Given the description of an element on the screen output the (x, y) to click on. 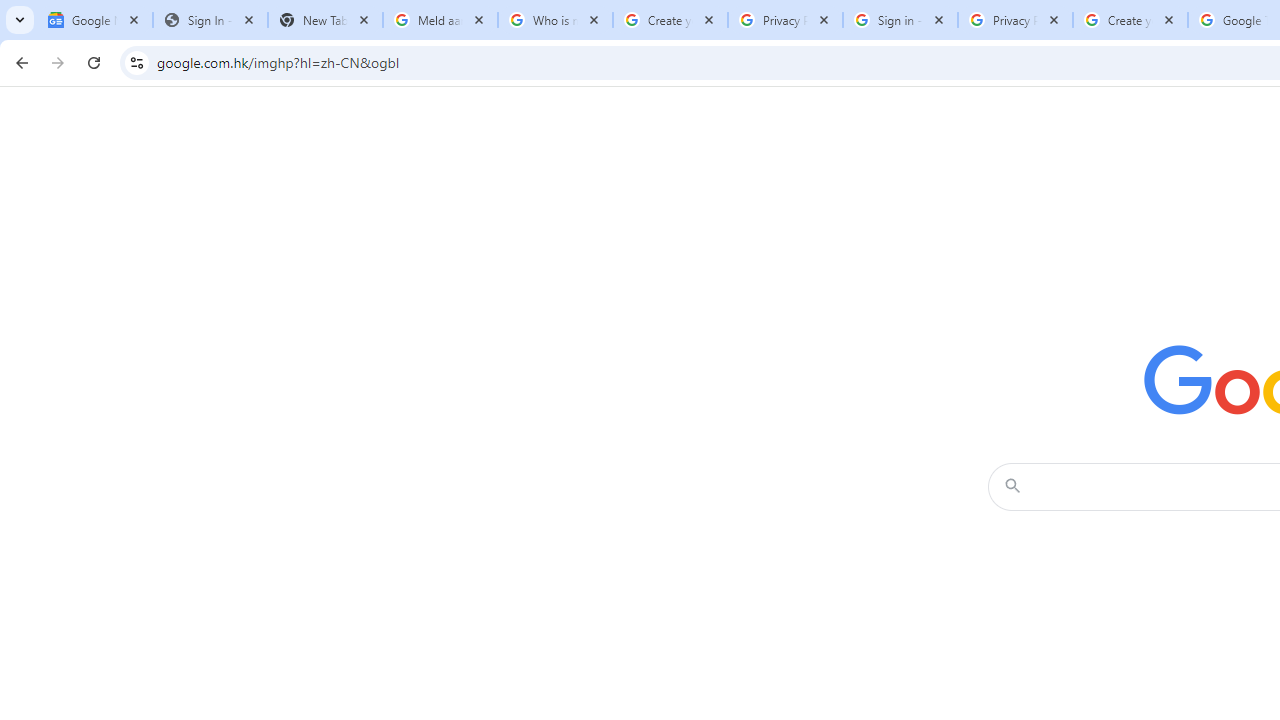
Sign in - Google Accounts (900, 20)
Who is my administrator? - Google Account Help (555, 20)
Create your Google Account (670, 20)
Sign In - USA TODAY (209, 20)
New Tab (324, 20)
Google News (95, 20)
Create your Google Account (1129, 20)
